Given the description of an element on the screen output the (x, y) to click on. 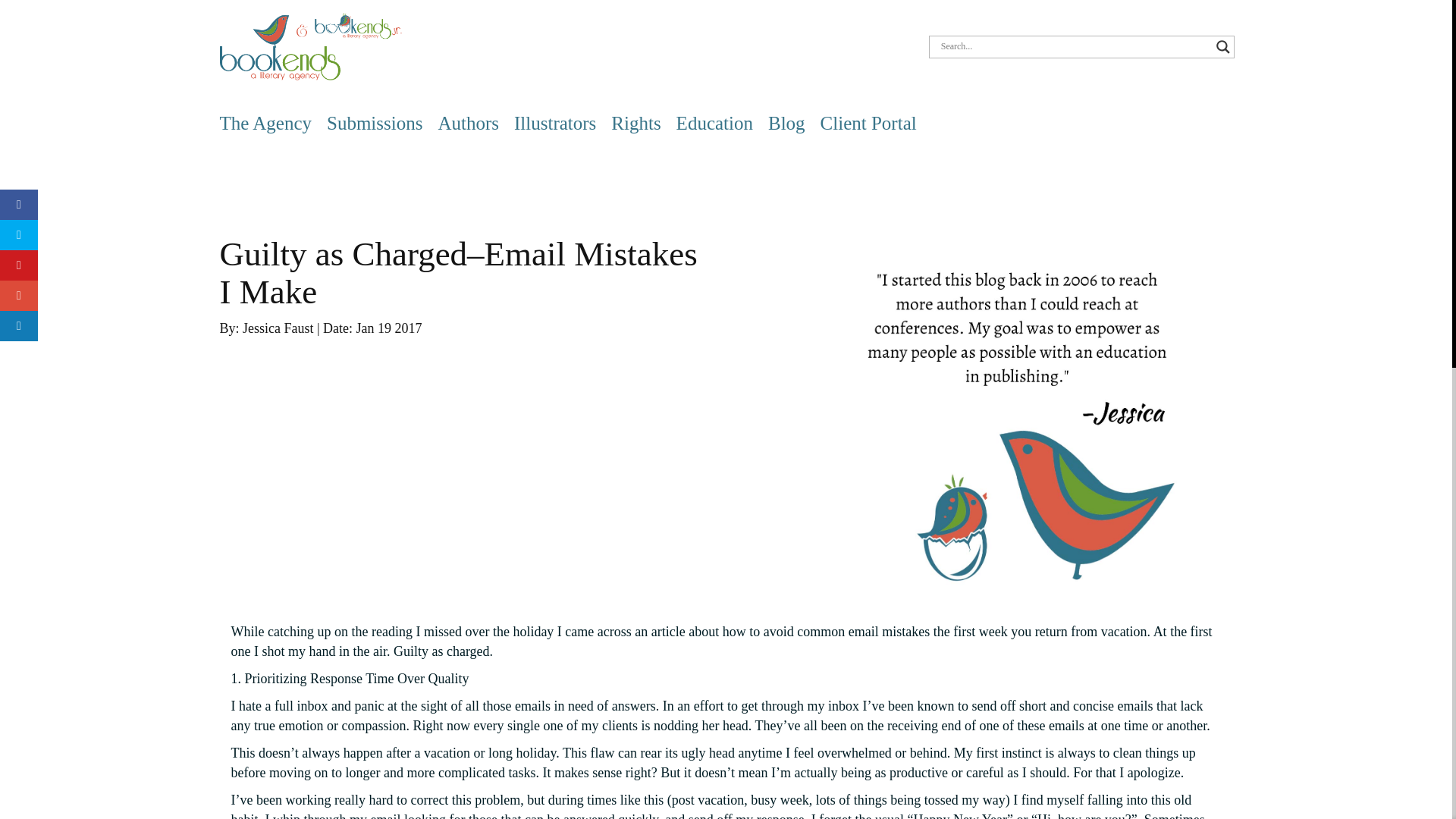
Submissions (374, 123)
Client Portal (869, 123)
BookEnds Literary Agency (310, 46)
Authors (468, 123)
Rights (636, 123)
Education (714, 123)
The Agency (265, 123)
Illustrators (554, 123)
Blog (786, 123)
